Given the description of an element on the screen output the (x, y) to click on. 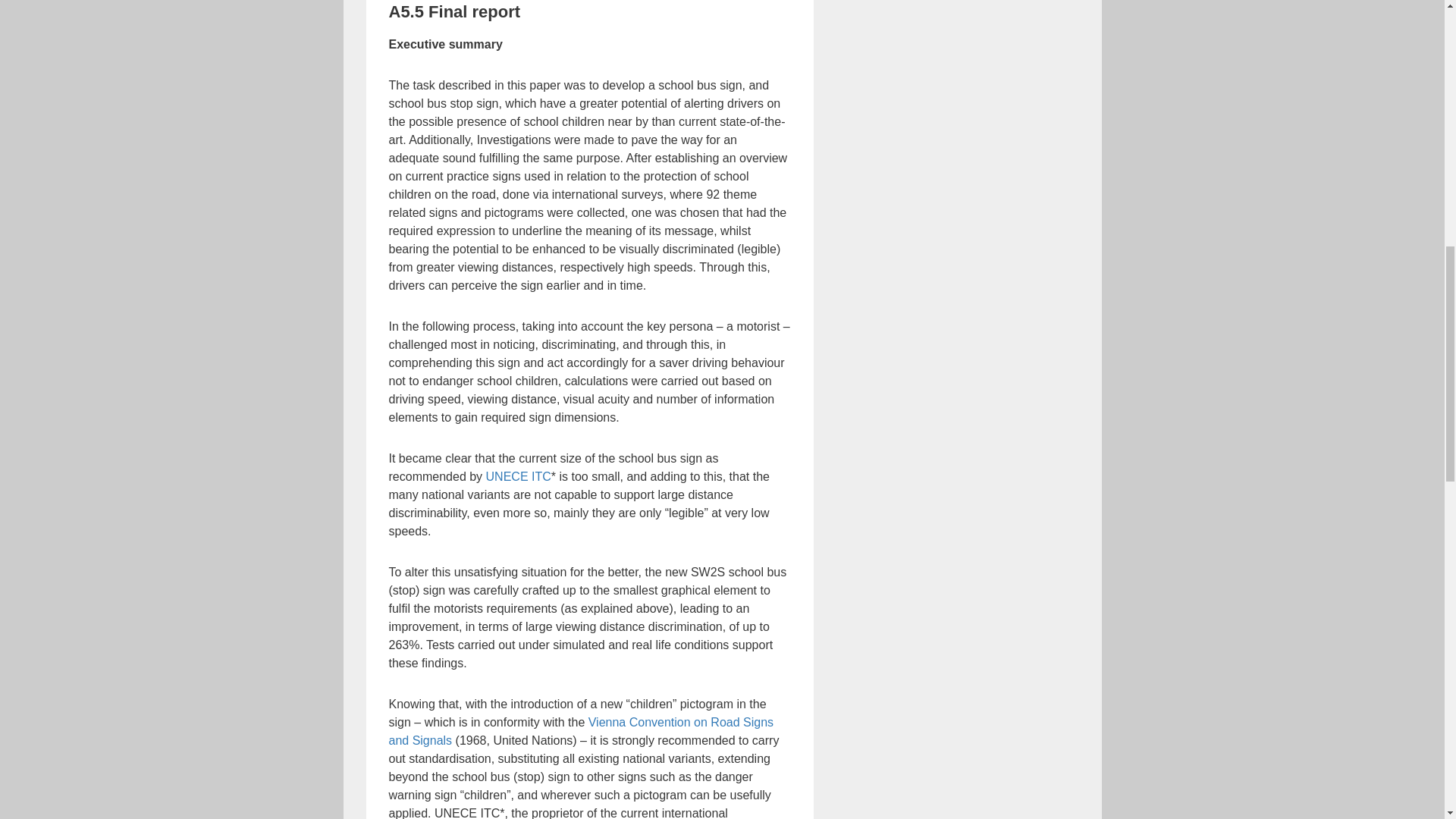
UNECE ITC (518, 476)
Vienna Convention on United Nations (580, 730)
Vienna Convention on Road Signs and Signals (580, 730)
